Given the description of an element on the screen output the (x, y) to click on. 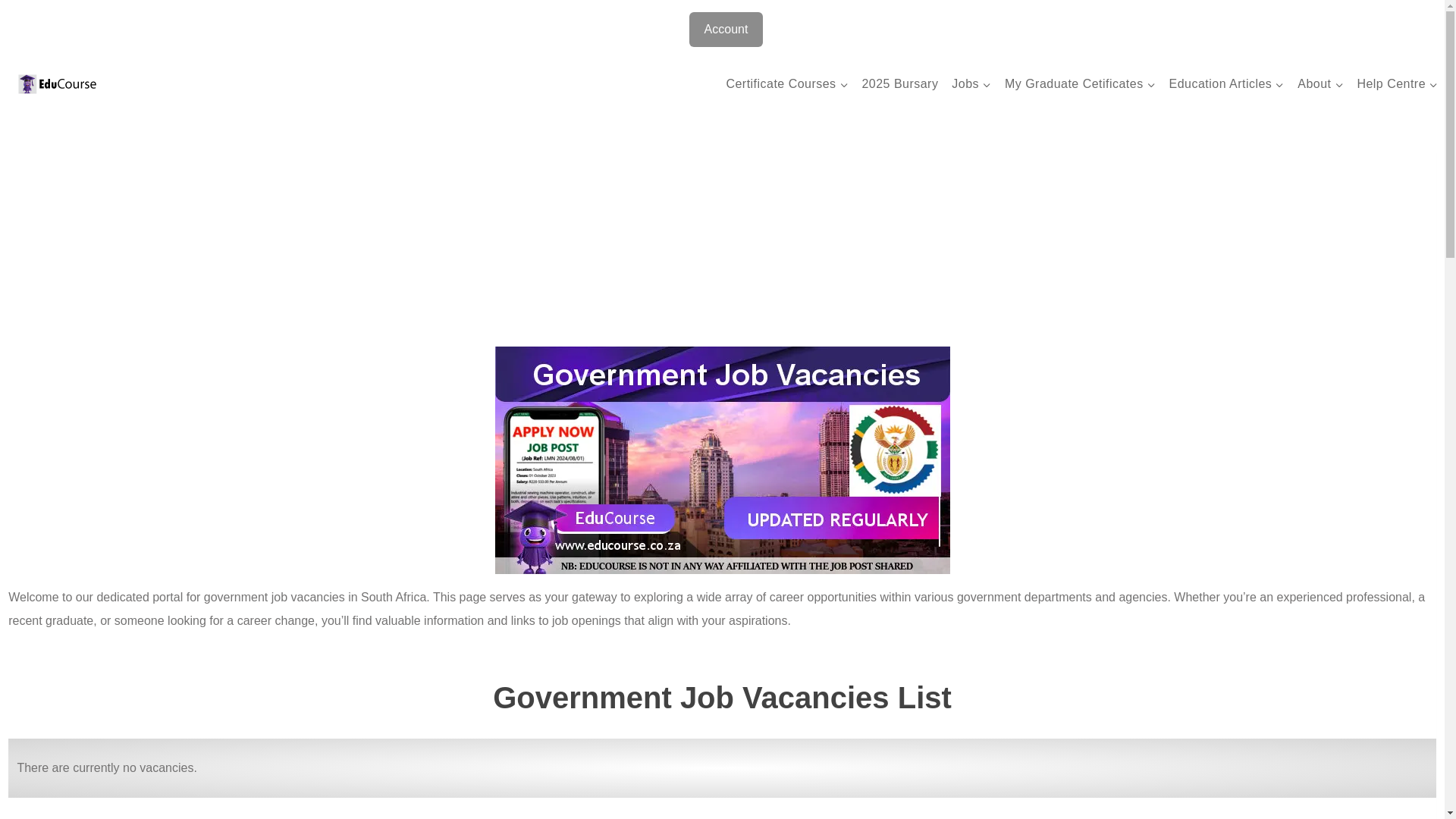
Jobs (970, 85)
Certificate Courses (786, 85)
About (1319, 85)
My Graduate Cetificates (1079, 85)
2025 Bursary (900, 85)
Account (725, 29)
Education Articles (1226, 85)
